Given the description of an element on the screen output the (x, y) to click on. 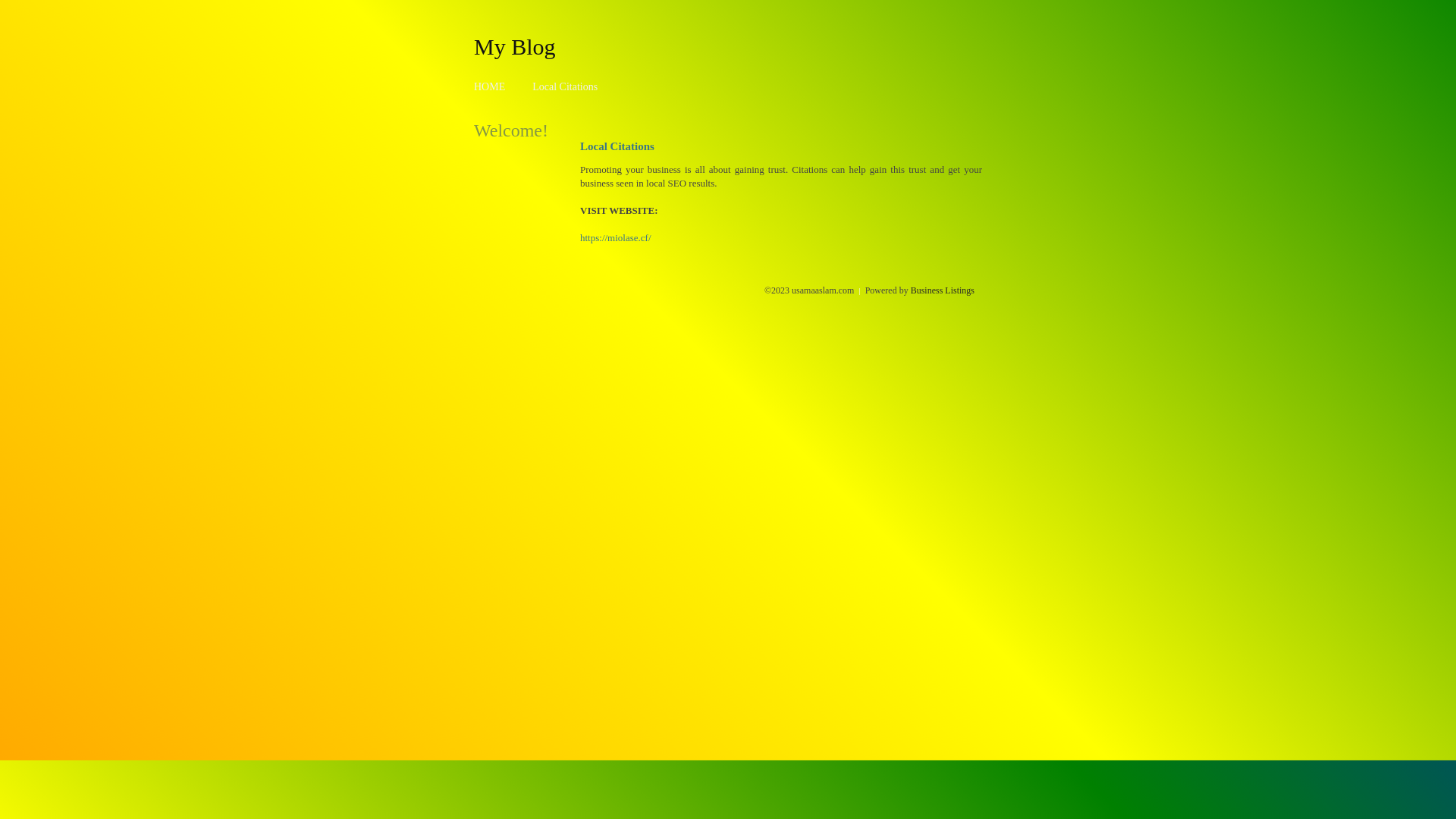
Local Citations Element type: text (564, 86)
Business Listings Element type: text (942, 290)
My Blog Element type: text (514, 46)
https://miolase.cf/ Element type: text (615, 237)
HOME Element type: text (489, 86)
